Given the description of an element on the screen output the (x, y) to click on. 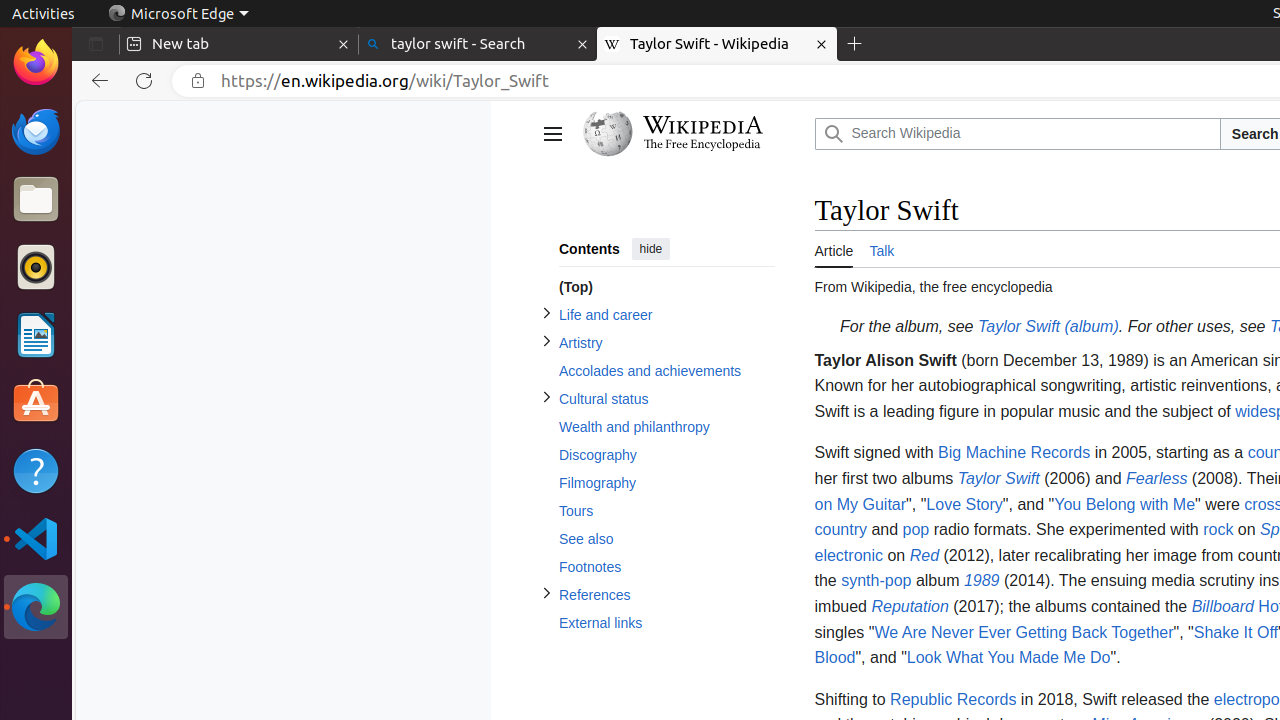
New Tab Element type: push-button (855, 44)
Main menu Element type: push-button (552, 134)
Taylor Swift - Wikipedia Element type: page-tab (717, 44)
(Top) Element type: link (666, 287)
Thunderbird Mail Element type: push-button (36, 131)
